Given the description of an element on the screen output the (x, y) to click on. 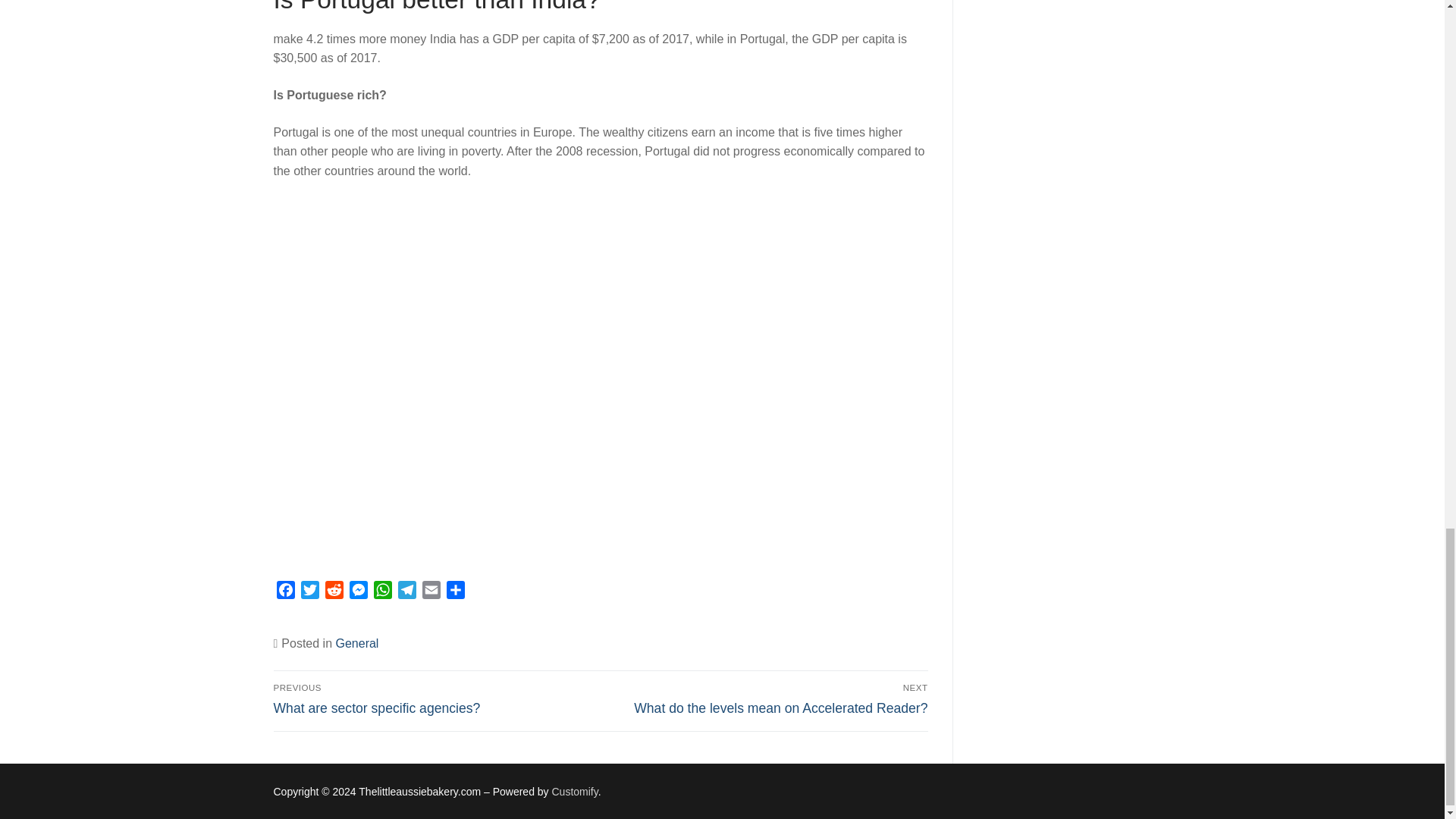
Reddit (333, 592)
General (356, 643)
Messenger (433, 698)
Email (357, 592)
Customify (430, 592)
Reddit (574, 791)
Twitter (333, 592)
WhatsApp (309, 592)
Facebook (381, 592)
Messenger (285, 592)
WhatsApp (357, 592)
Telegram (381, 592)
Telegram (406, 592)
